Given the description of an element on the screen output the (x, y) to click on. 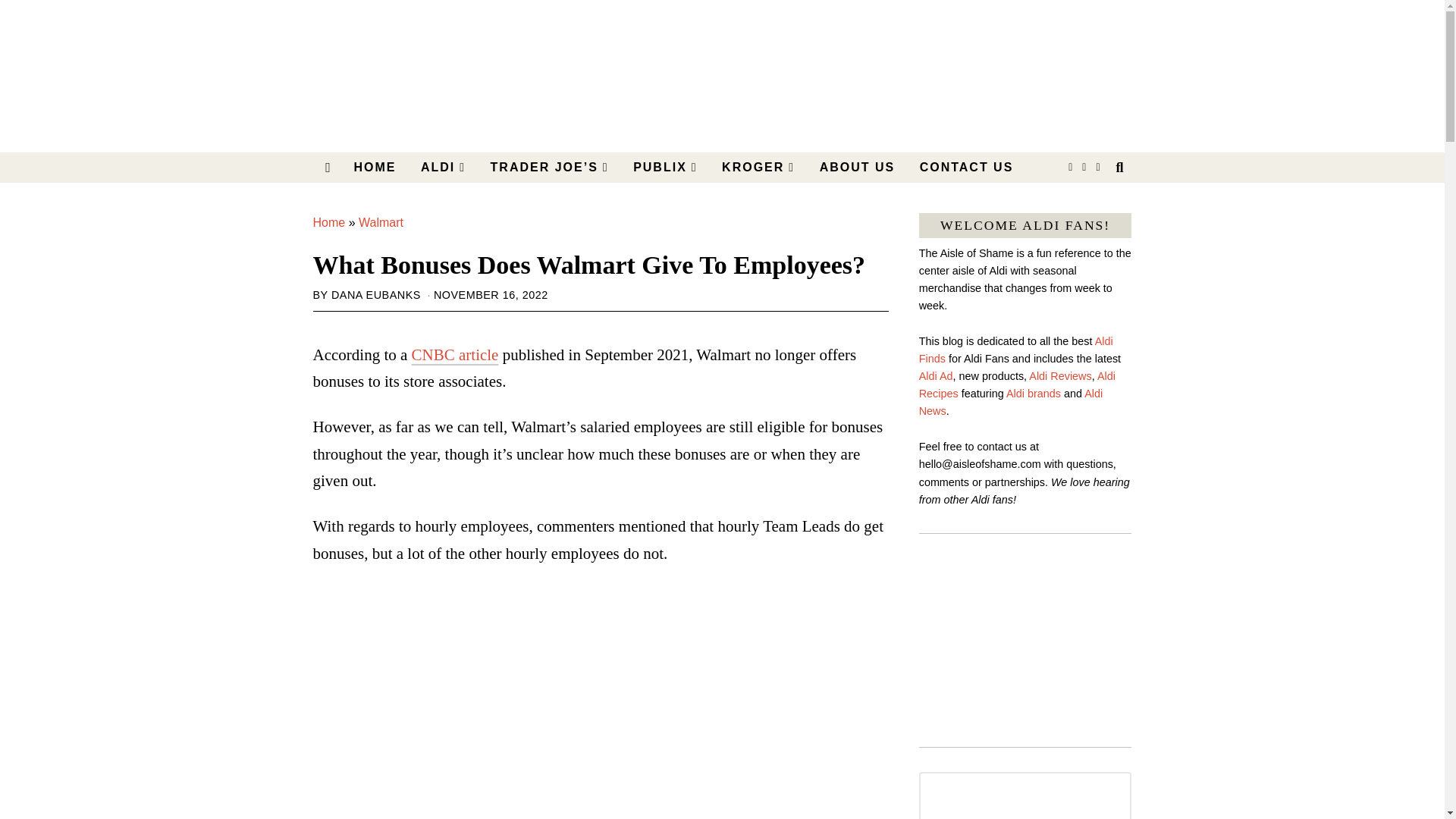
HOME (374, 167)
ALDI (443, 167)
CONTACT US (966, 167)
DANA EUBANKS (375, 295)
CNBC article (455, 354)
KROGER (758, 167)
ABOUT US (857, 167)
Home (329, 222)
Walmart (380, 222)
PUBLIX (665, 167)
